Given the description of an element on the screen output the (x, y) to click on. 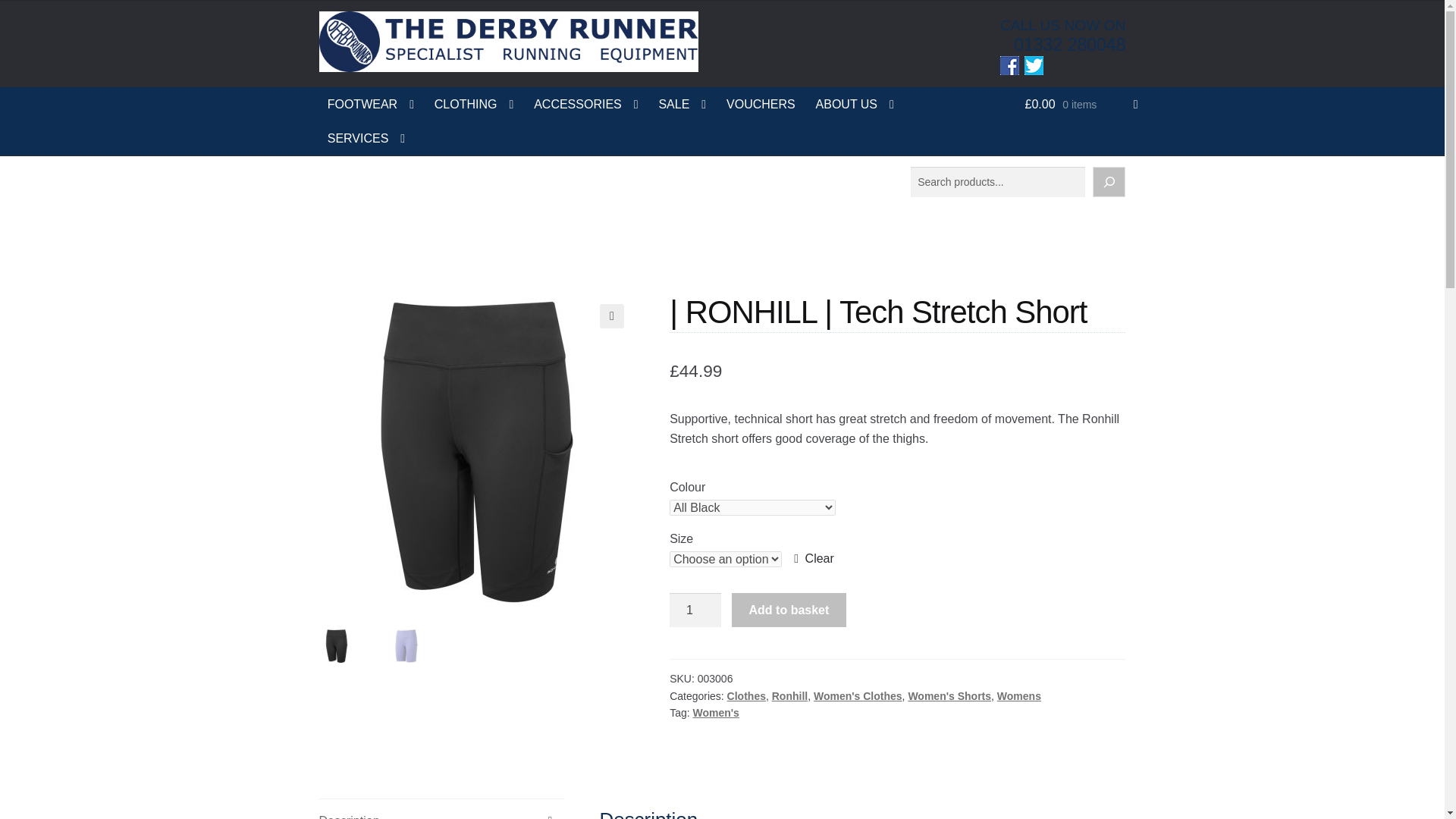
01332 280048 (1069, 44)
FOOTWEAR (370, 103)
View your shopping basket (1081, 103)
1 (694, 610)
CLOTHING (474, 103)
